Given the description of an element on the screen output the (x, y) to click on. 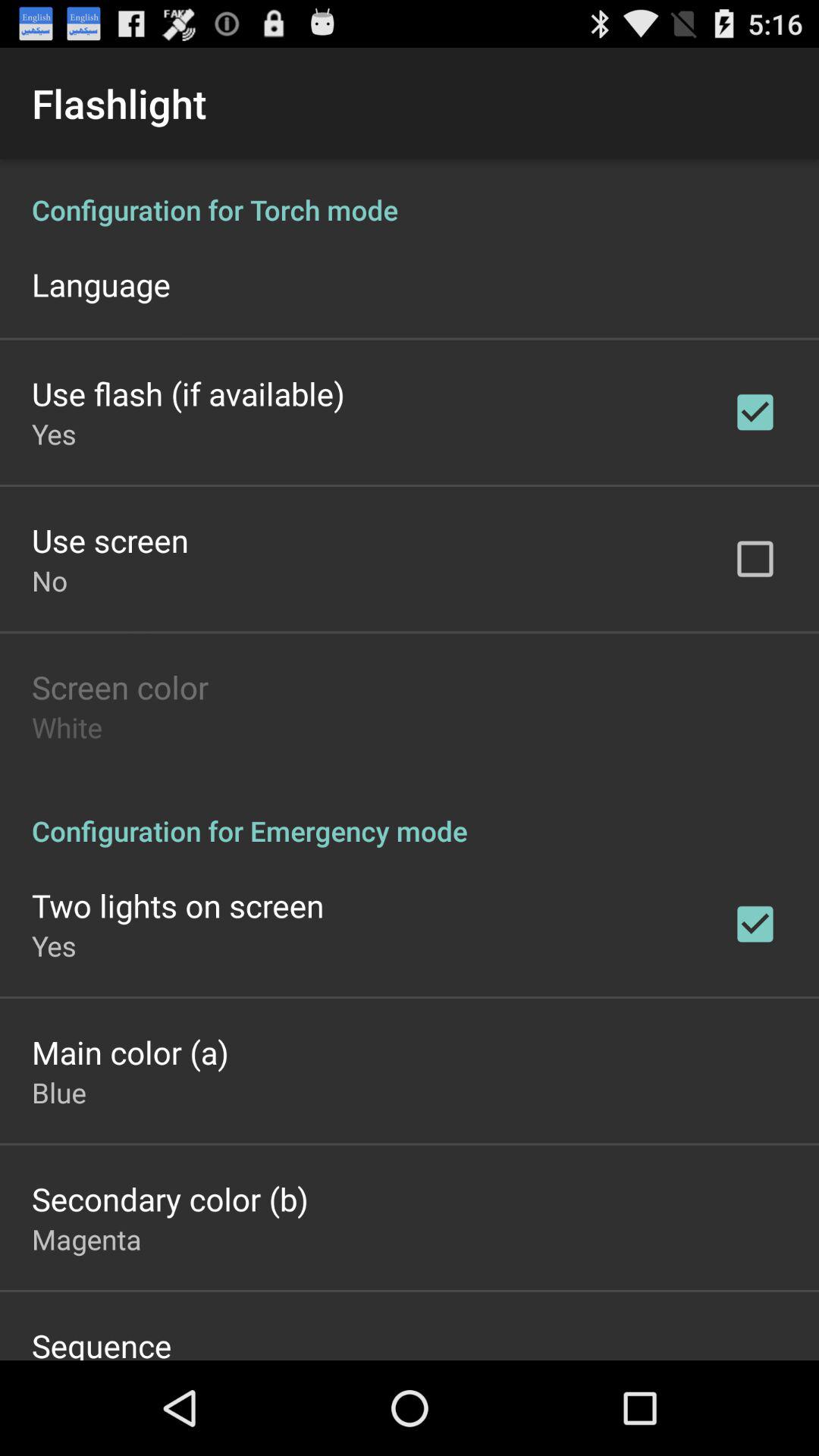
turn on item below blue item (169, 1198)
